Given the description of an element on the screen output the (x, y) to click on. 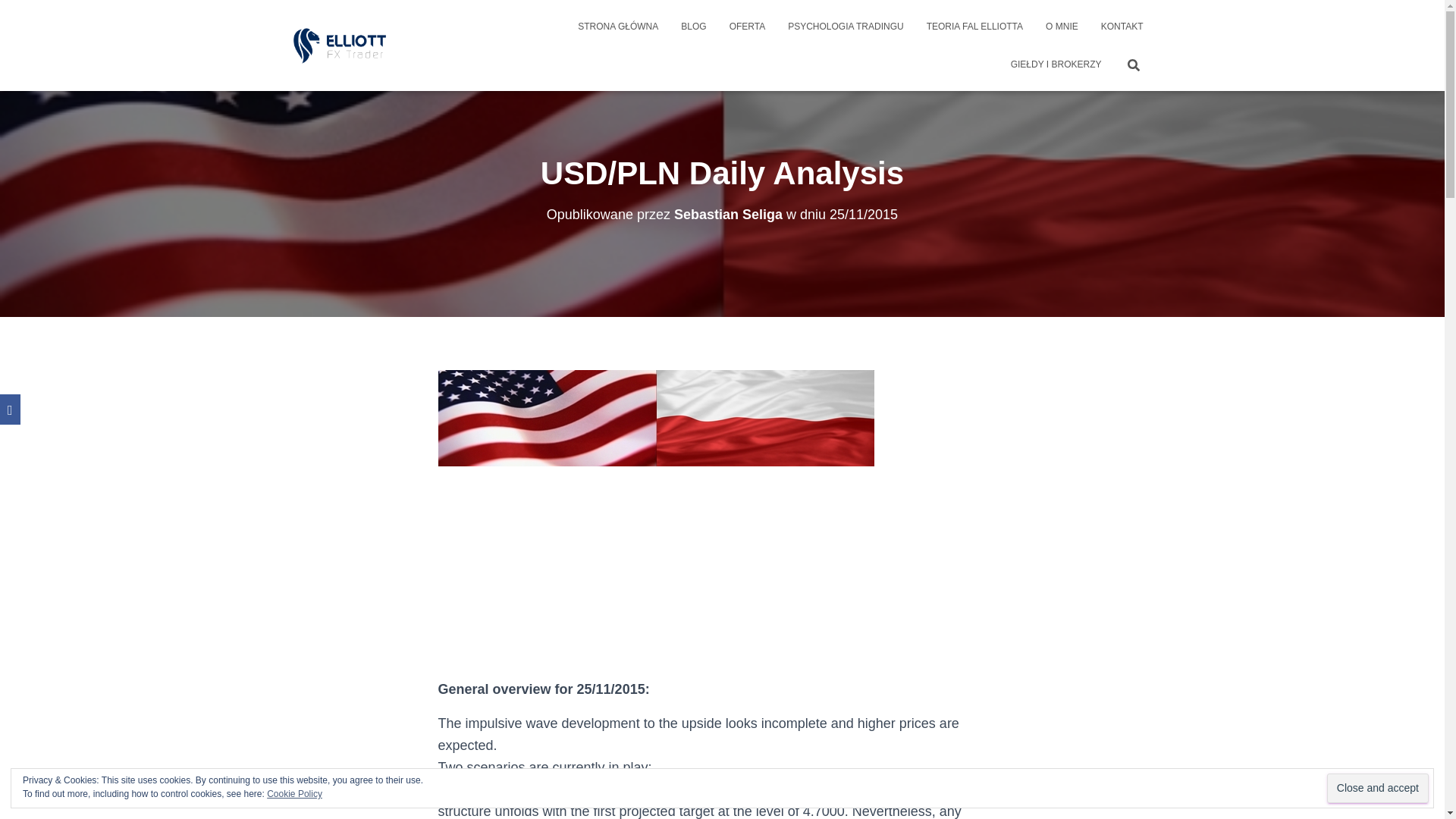
Teoria Fal Elliotta (974, 26)
Kontakt (1121, 26)
OFERTA (747, 26)
Oferta (747, 26)
TEORIA FAL ELLIOTTA (974, 26)
O mnie (1061, 26)
Psychologia Tradingu (845, 26)
PSYCHOLOGIA TRADINGU (845, 26)
KONTAKT (1121, 26)
Sebastian Seliga (728, 214)
